Given the description of an element on the screen output the (x, y) to click on. 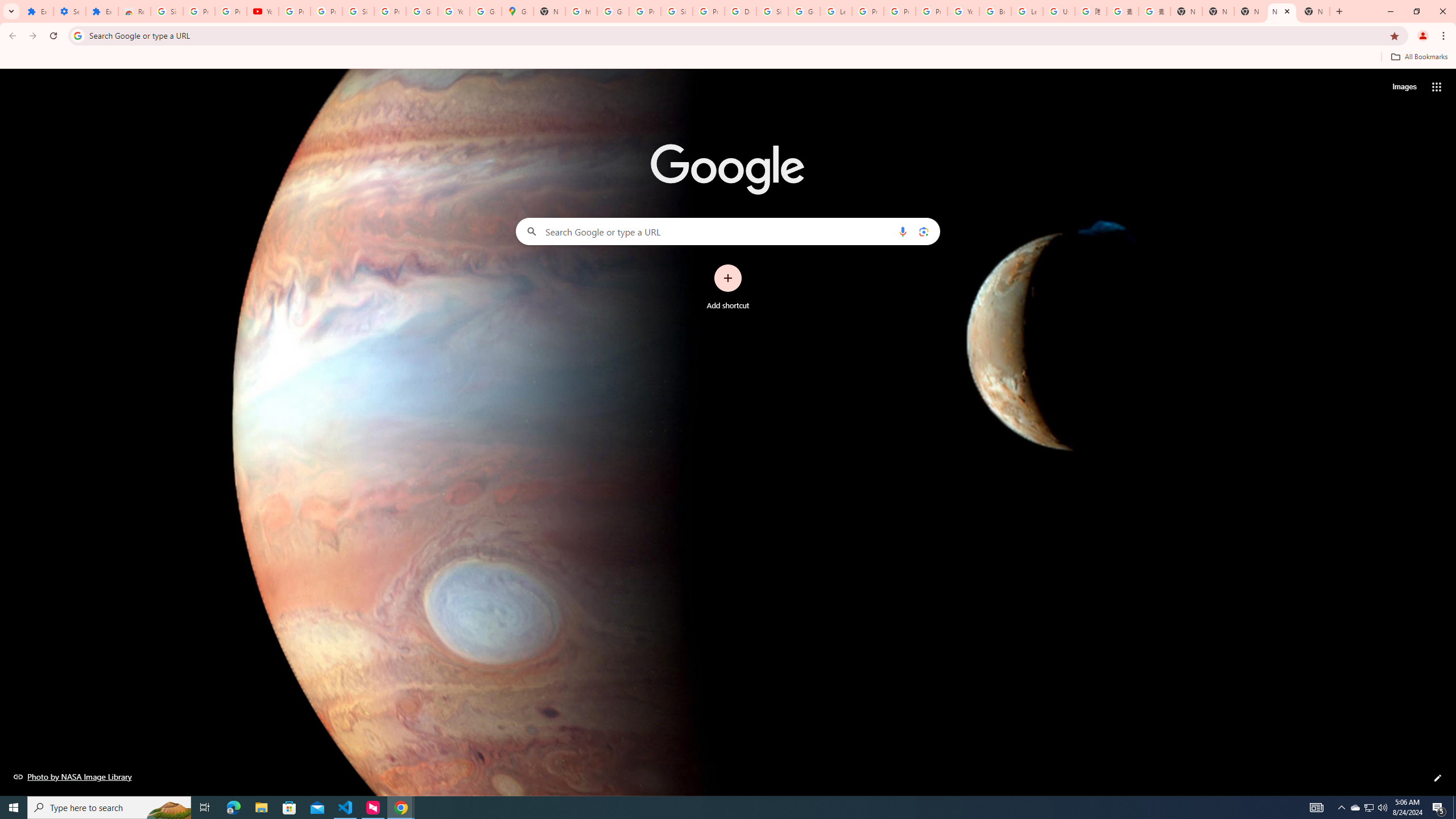
Add shortcut (727, 287)
Delete specific Google services or your Google Account (740, 11)
Google Maps (517, 11)
Customize this page (1437, 778)
